Given the description of an element on the screen output the (x, y) to click on. 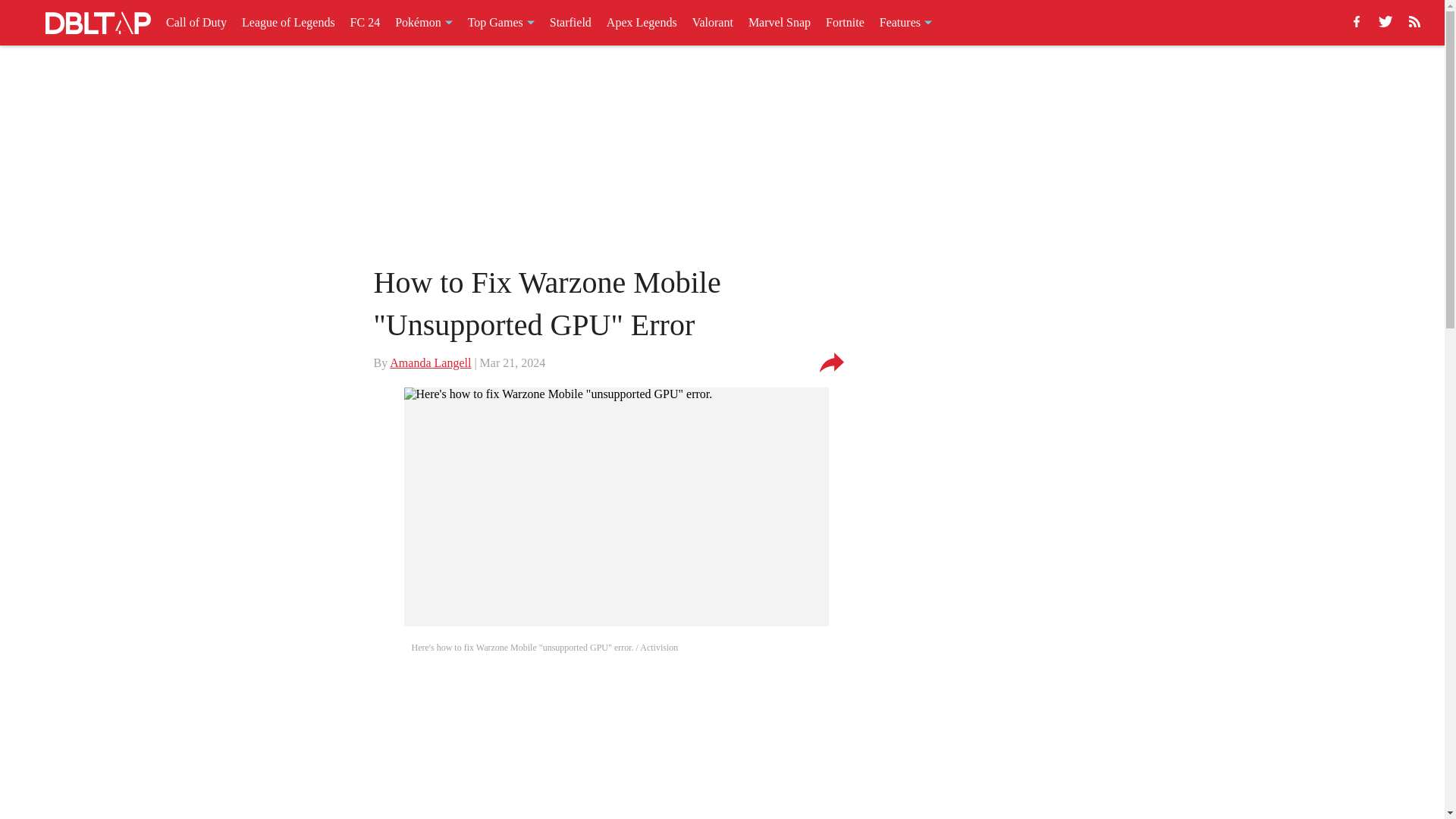
Top Games (500, 22)
Starfield (570, 22)
League of Legends (287, 22)
Marvel Snap (779, 22)
Call of Duty (196, 22)
Features (905, 22)
Apex Legends (642, 22)
Fortnite (844, 22)
Valorant (713, 22)
Amanda Langell (430, 362)
FC 24 (365, 22)
Here's how to fix Warzone Mobile "unsupported GPU" error. (615, 506)
